Given the description of an element on the screen output the (x, y) to click on. 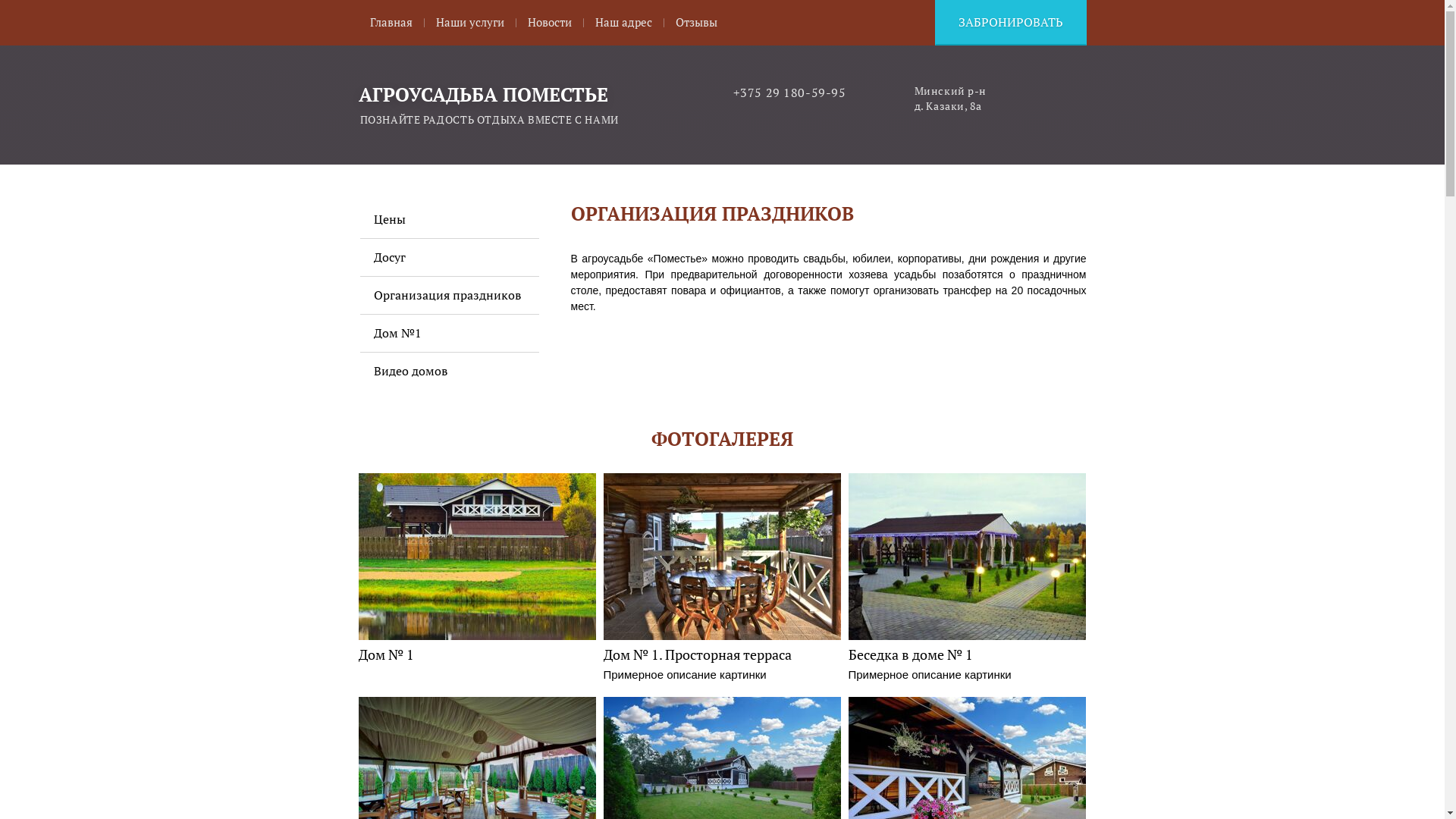
+375 29 180-59-95 Element type: text (788, 92)
